Given the description of an element on the screen output the (x, y) to click on. 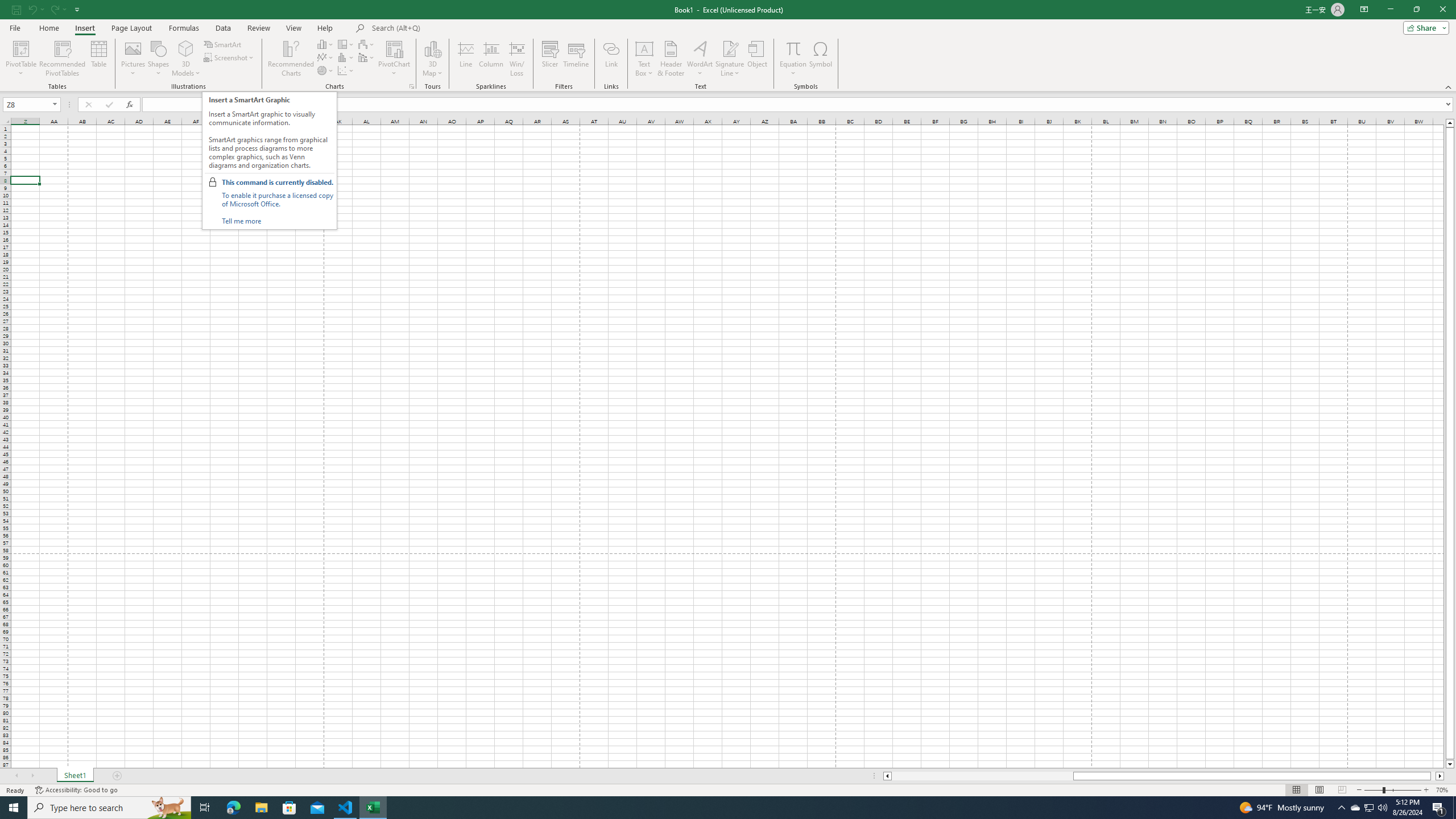
Equation (793, 48)
Draw Horizontal Text Box (643, 48)
Add Sheet (117, 775)
PivotChart (394, 58)
Normal (1296, 790)
Class: NetUIScrollBar (1163, 775)
Line down (1449, 764)
Share (1423, 27)
Review (258, 28)
Close (1442, 9)
Home (48, 28)
Line (465, 58)
Insert Combo Chart (366, 56)
Slicer... (550, 58)
